Given the description of an element on the screen output the (x, y) to click on. 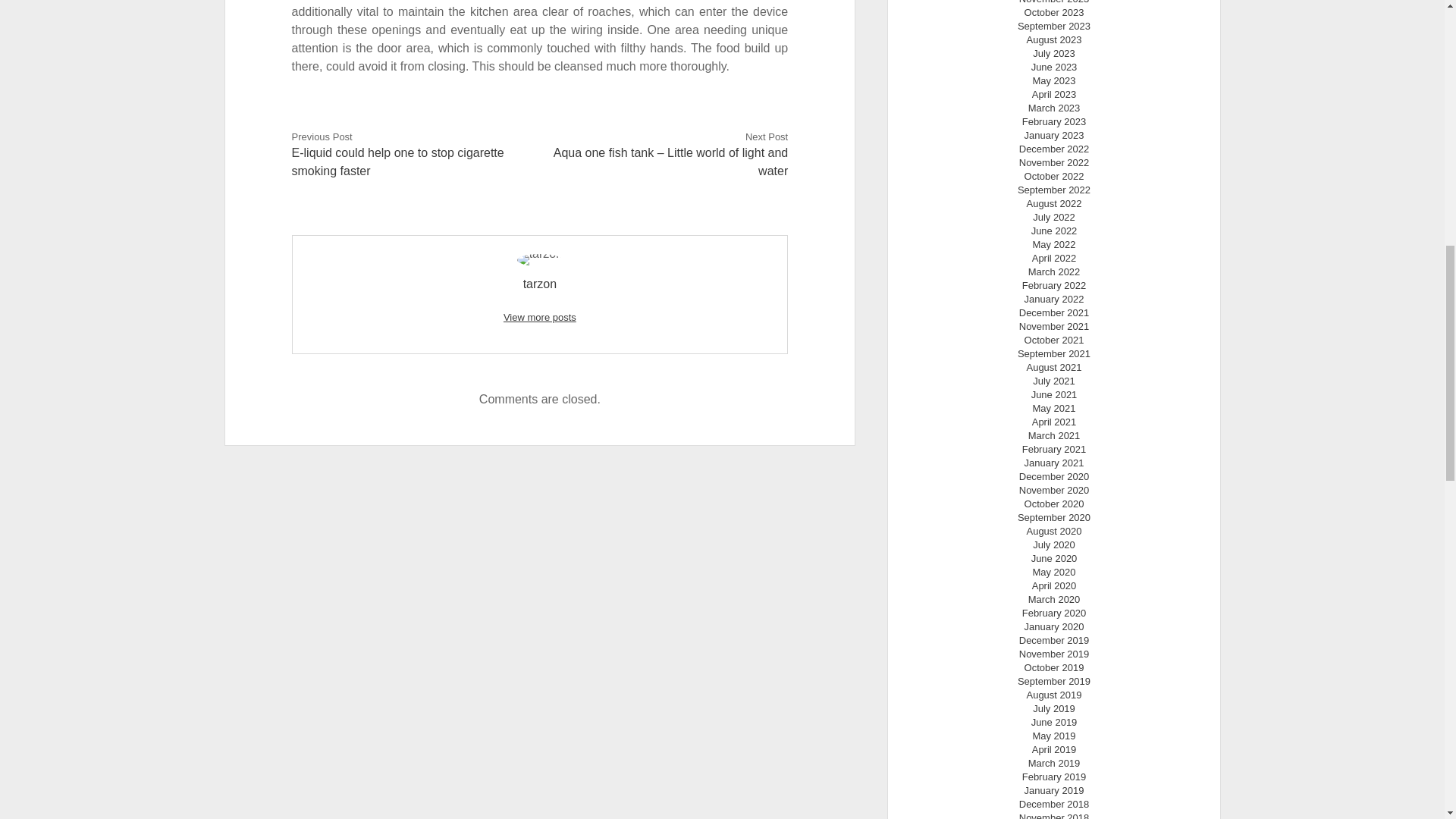
August 2023 (1053, 39)
July 2023 (1053, 52)
View more posts (539, 317)
September 2023 (1053, 25)
June 2023 (1053, 66)
November 2023 (1054, 2)
E-liquid could help one to stop cigarette smoking faster (397, 161)
October 2023 (1054, 12)
